Given the description of an element on the screen output the (x, y) to click on. 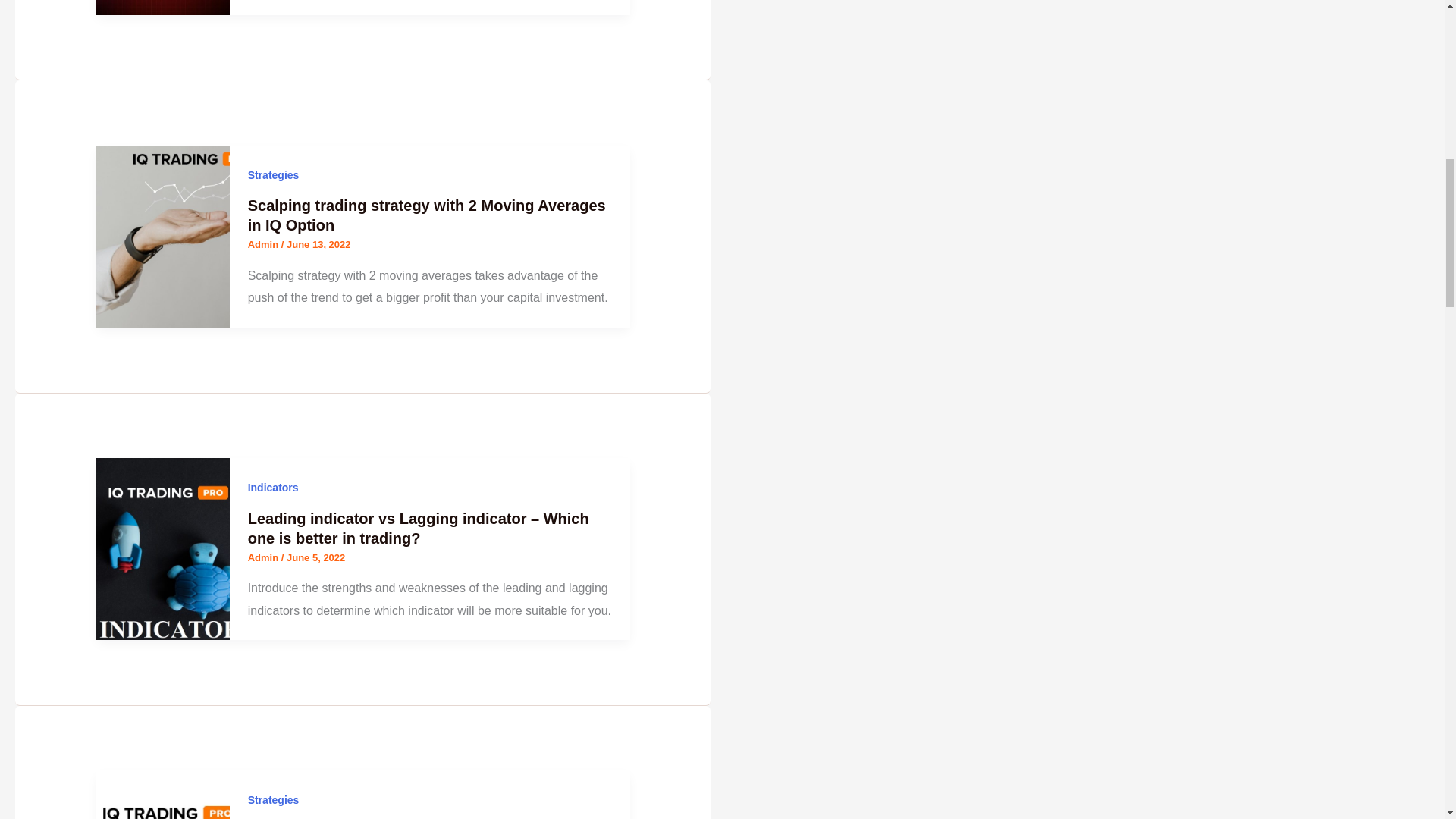
View all posts by Admin (264, 557)
Strategies (273, 174)
Admin (264, 557)
Admin (264, 244)
View all posts by Admin (264, 244)
Strategies (273, 799)
Indicators (272, 487)
